Given the description of an element on the screen output the (x, y) to click on. 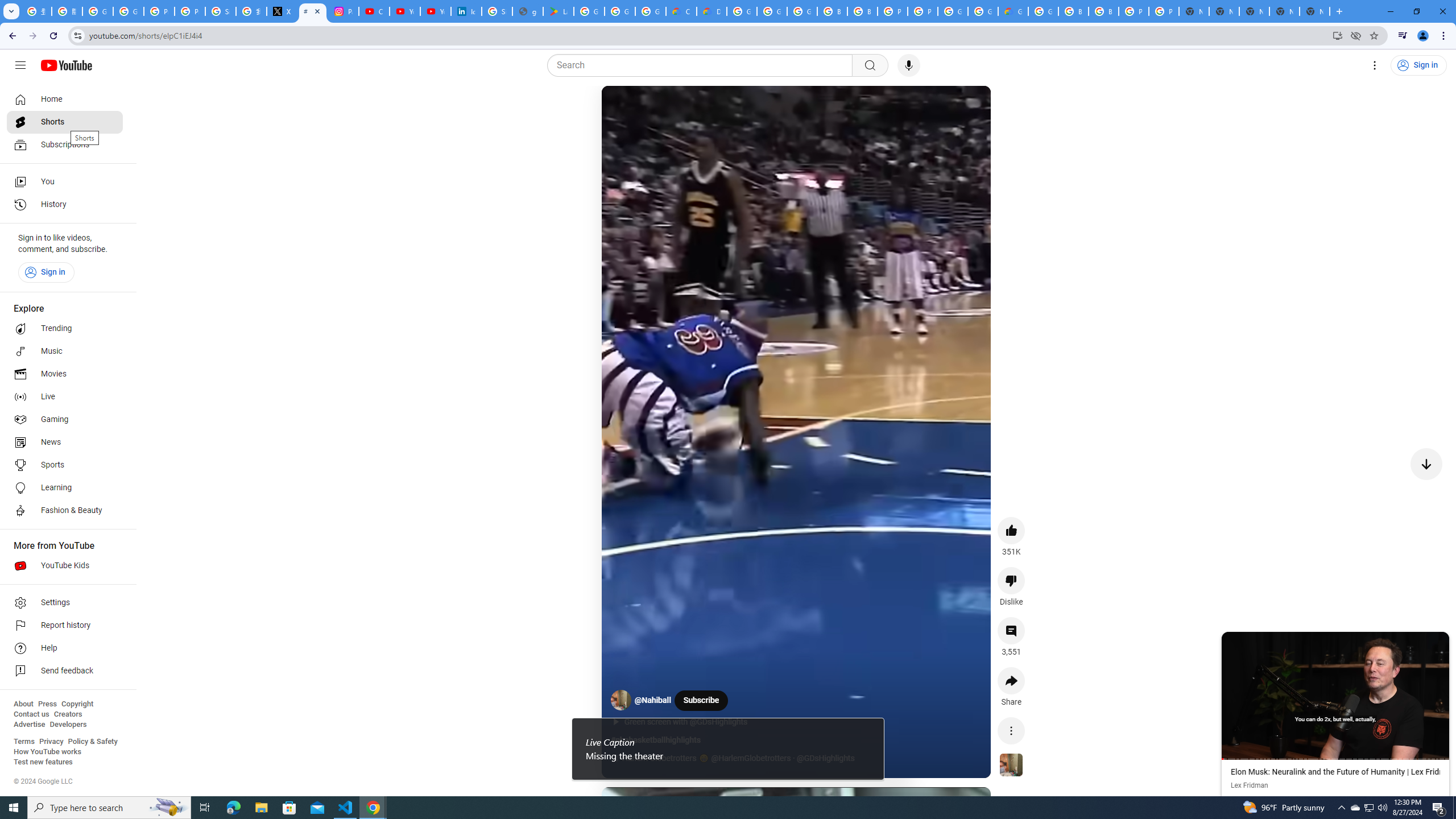
News (64, 441)
Shorts (64, 121)
Test new features (42, 761)
Creators (67, 714)
Learning (64, 487)
Search with your voice (908, 65)
Press (46, 703)
